Given the description of an element on the screen output the (x, y) to click on. 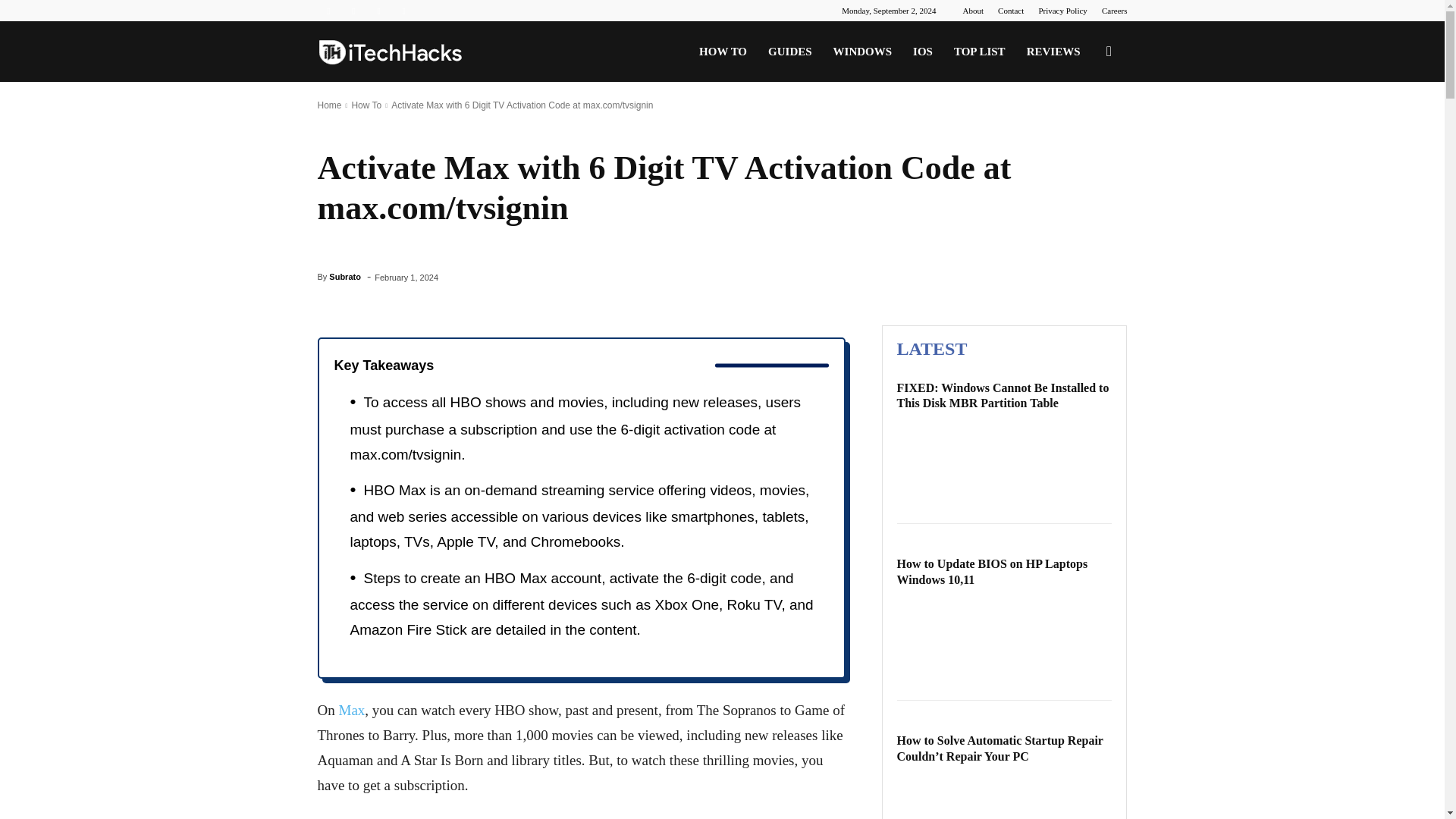
Youtube (403, 10)
iTech Hacks (390, 51)
HOW TO (722, 51)
Facebook (328, 10)
Max (351, 709)
TOP LIST (979, 51)
Subrato (345, 276)
REVIEWS (1053, 51)
View all posts in How To (365, 104)
WINDOWS (862, 51)
